Given the description of an element on the screen output the (x, y) to click on. 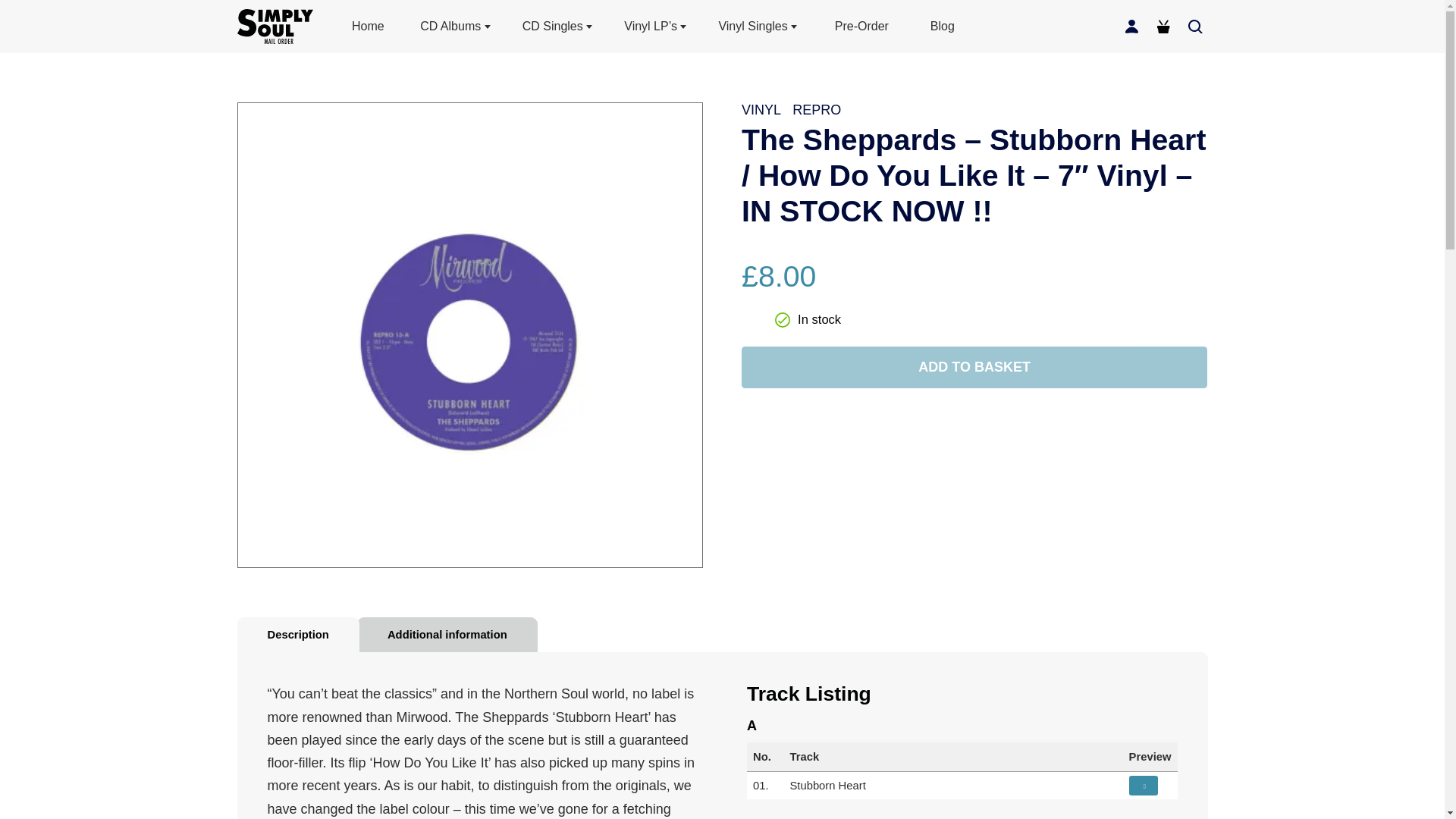
CD Albums (456, 26)
ADD TO BASKET (974, 367)
Search Products (1194, 26)
Account (1130, 26)
Vinyl Singles (757, 26)
CD Singles (558, 26)
Pre-Order (860, 25)
Home (368, 25)
Basket (1162, 26)
Blog (941, 25)
